Given the description of an element on the screen output the (x, y) to click on. 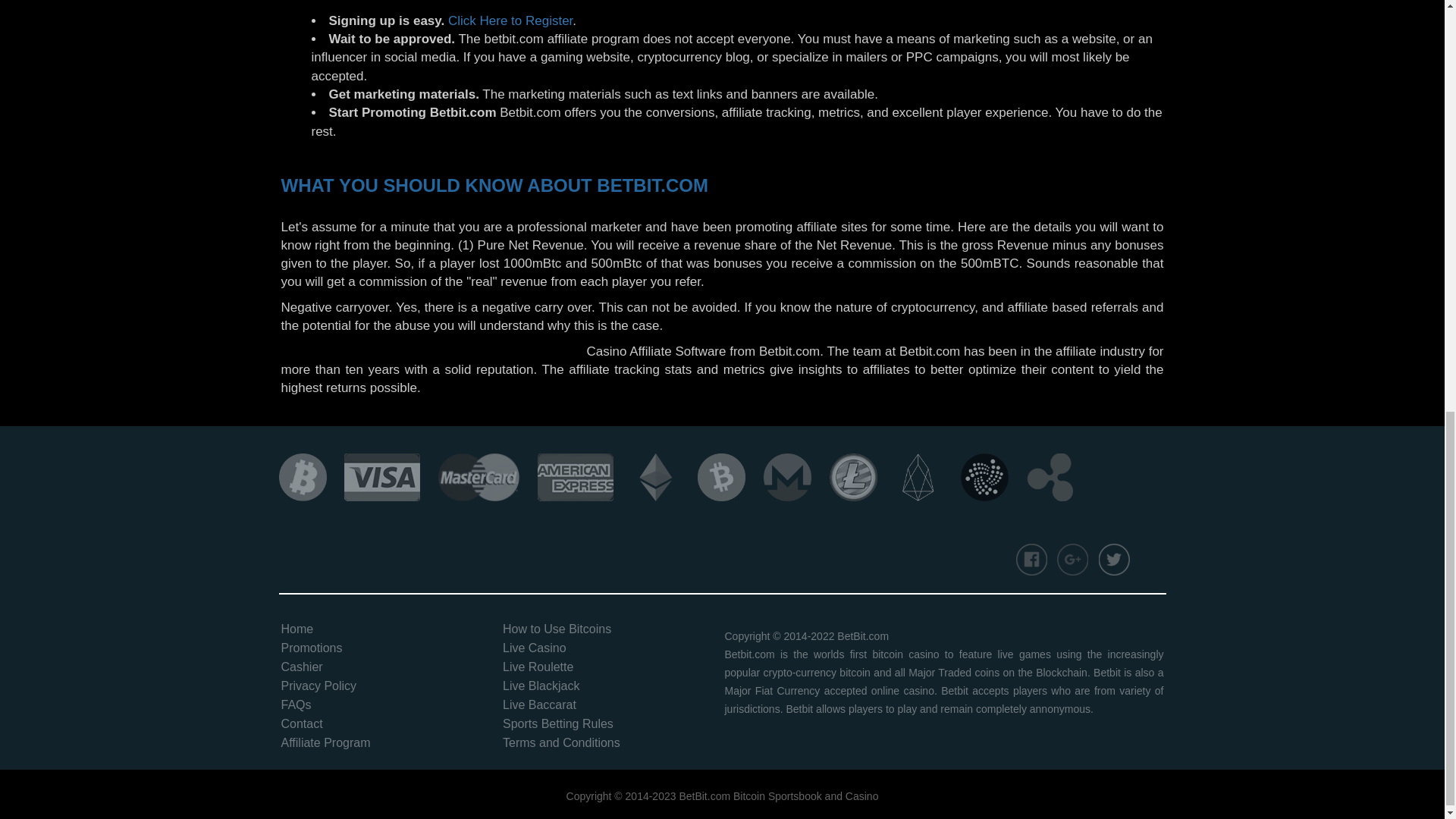
Click Here to Register (510, 20)
